Given the description of an element on the screen output the (x, y) to click on. 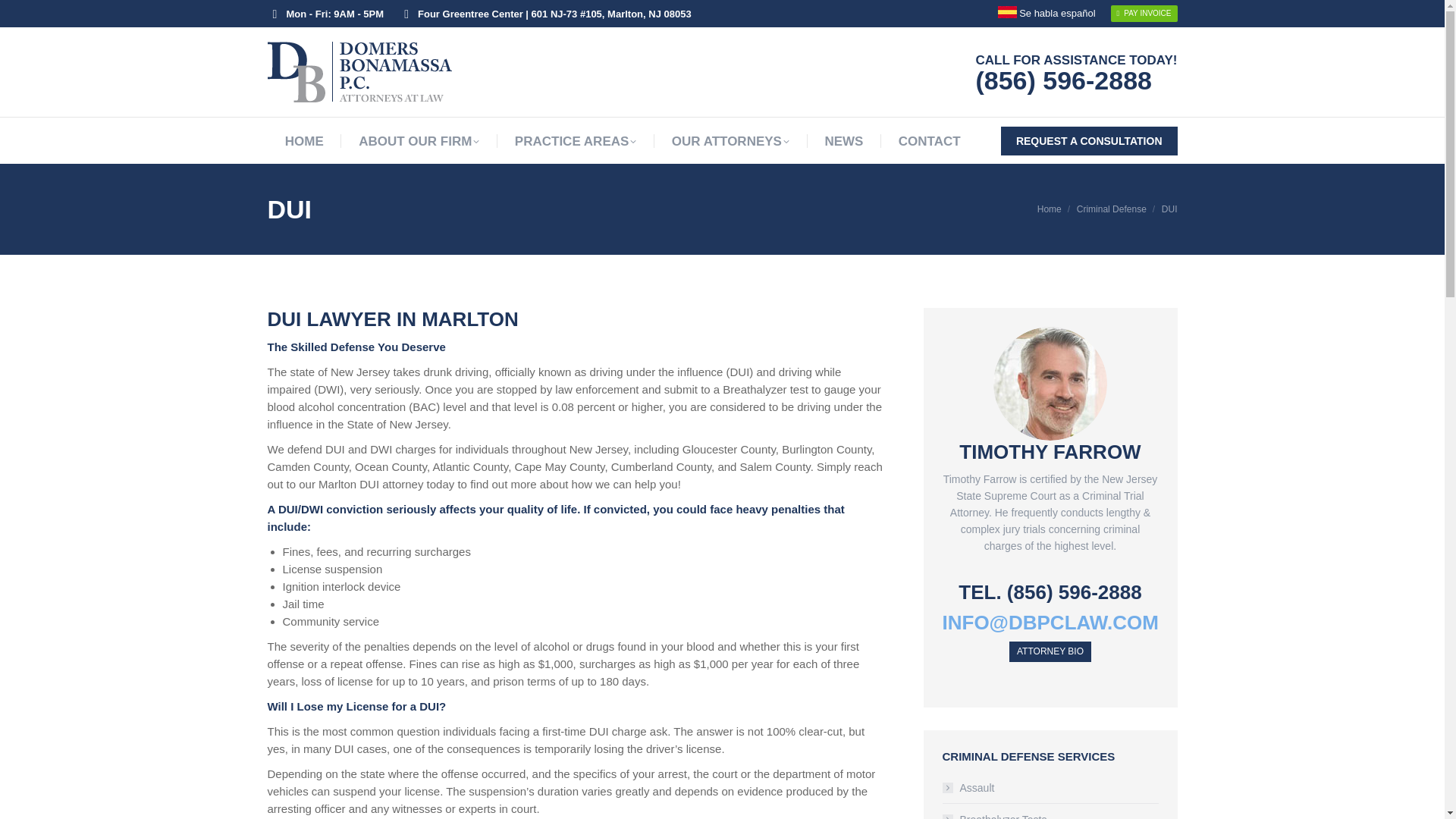
ABOUT OUR FIRM (418, 141)
Timothy Farrow (1049, 651)
HOME (304, 141)
Home (1048, 208)
PRACTICE AREAS (576, 141)
REQUEST A CONSULTATION (1089, 140)
OUR ATTORNEYS (730, 141)
CONTACT (929, 141)
NEWS (843, 141)
Criminal Defense (1112, 208)
Mon - Fri: 9AM - 5PM (325, 12)
PAY INVOICE (1143, 13)
